Given the description of an element on the screen output the (x, y) to click on. 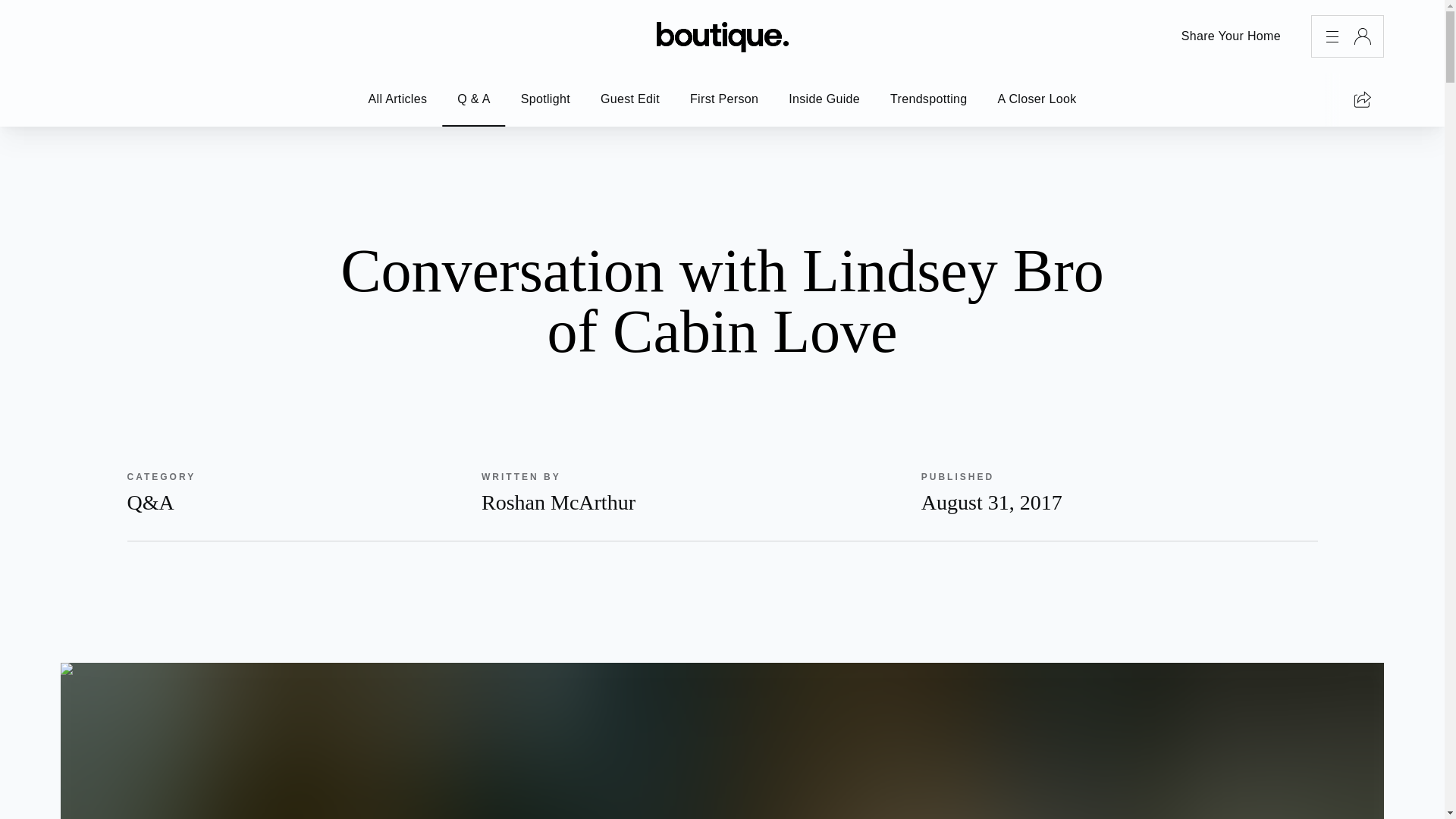
Inside Guide (686, 492)
Share Your Home (824, 99)
A Closer Look (1230, 36)
First Person (1037, 99)
Spotlight (724, 99)
Trendspotting (545, 99)
All Articles (928, 99)
Guest Edit (397, 99)
